Given the description of an element on the screen output the (x, y) to click on. 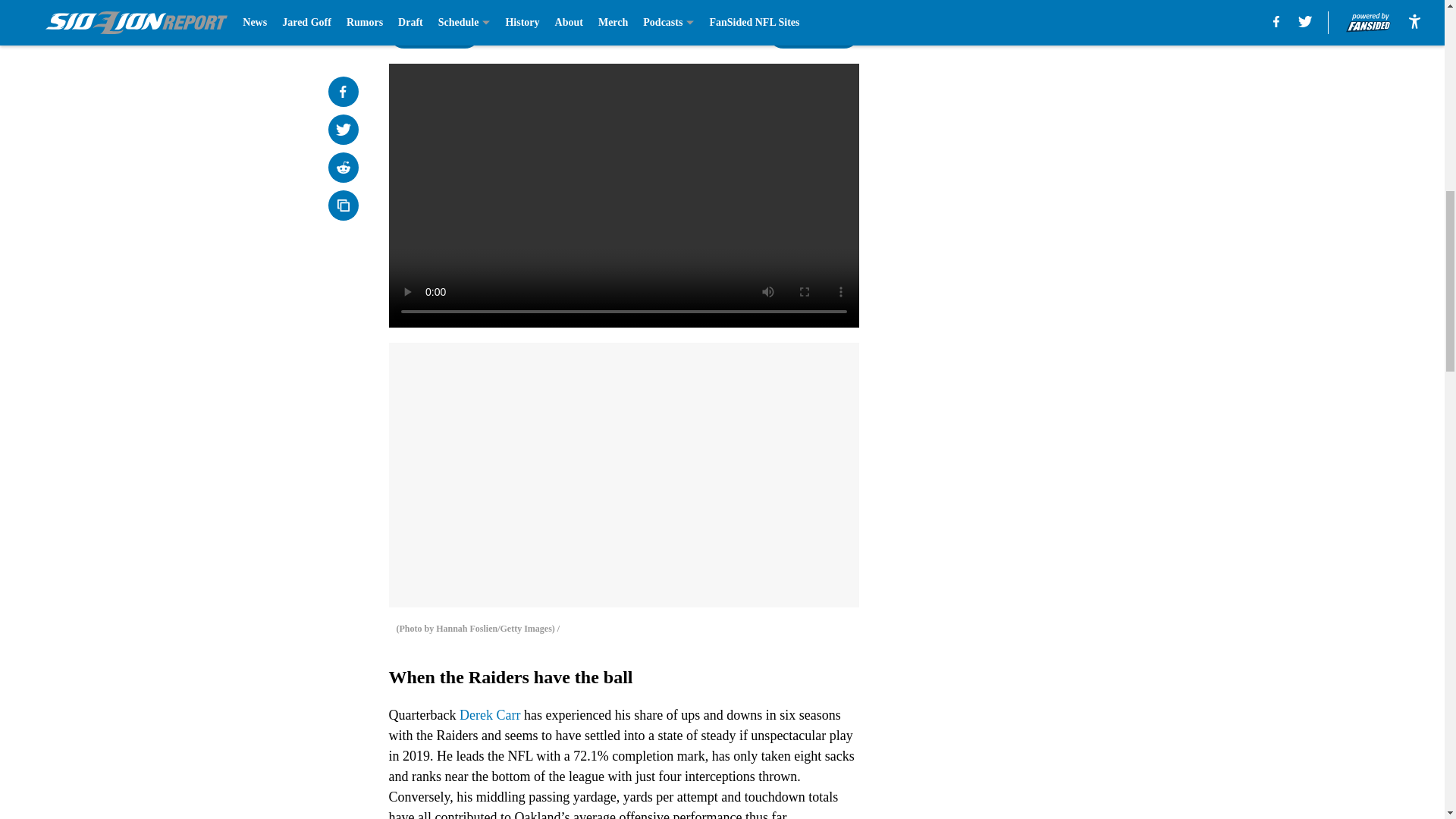
Prev (433, 33)
Next (813, 33)
Derek Carr (489, 714)
